Given the description of an element on the screen output the (x, y) to click on. 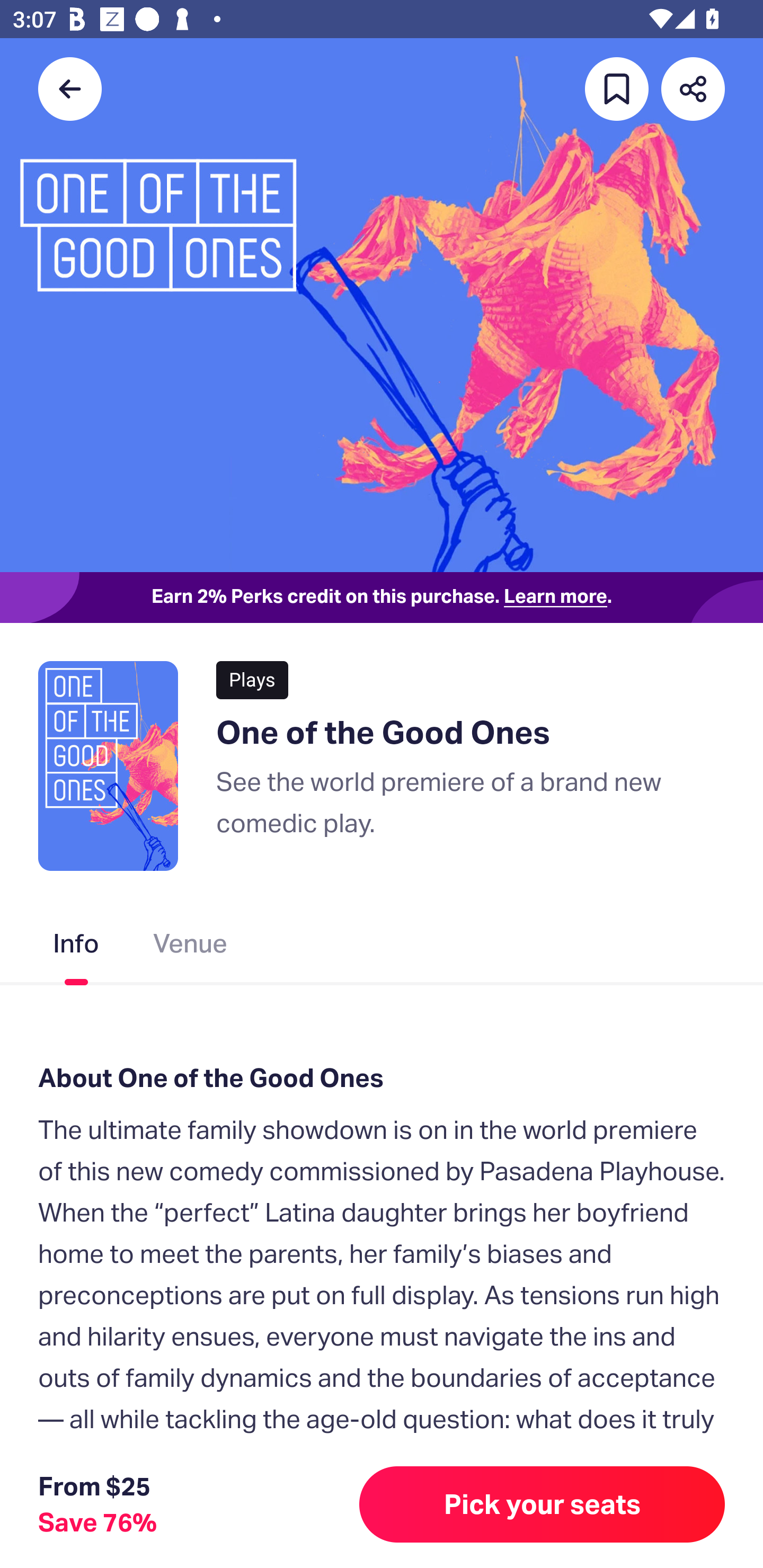
Earn 2% Perks credit on this purchase. Learn more. (381, 597)
Venue (190, 946)
About One of the Good Ones (381, 1077)
Pick your seats (541, 1504)
